Given the description of an element on the screen output the (x, y) to click on. 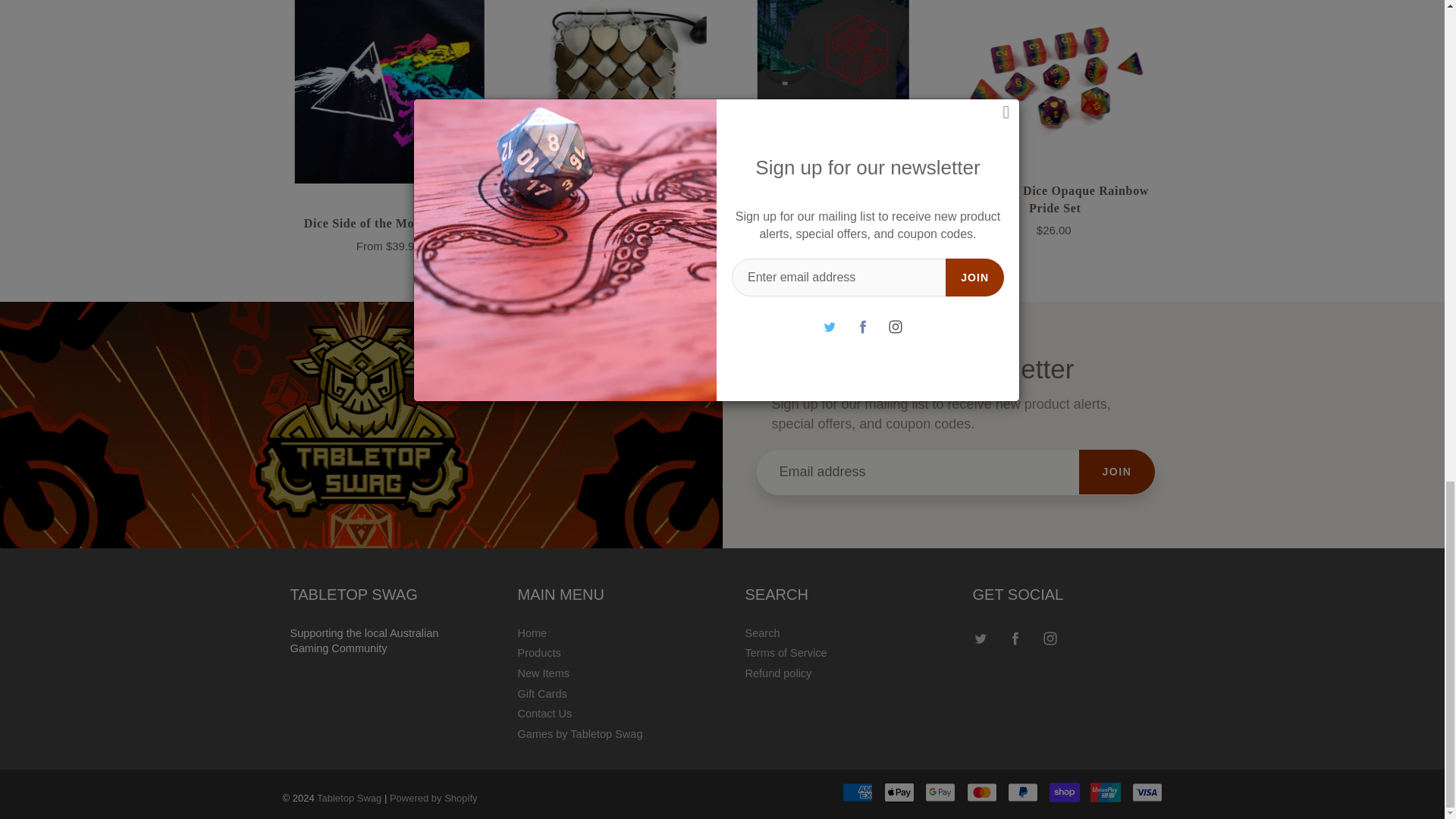
Visa (1146, 792)
American Express (857, 792)
Apple Pay (898, 792)
Mastercard (981, 792)
Twitter (981, 637)
Shop Pay (1064, 792)
Google Pay (939, 792)
Instagram (1050, 637)
PayPal (1022, 792)
Facebook (1016, 637)
Union Pay (1105, 792)
